Given the description of an element on the screen output the (x, y) to click on. 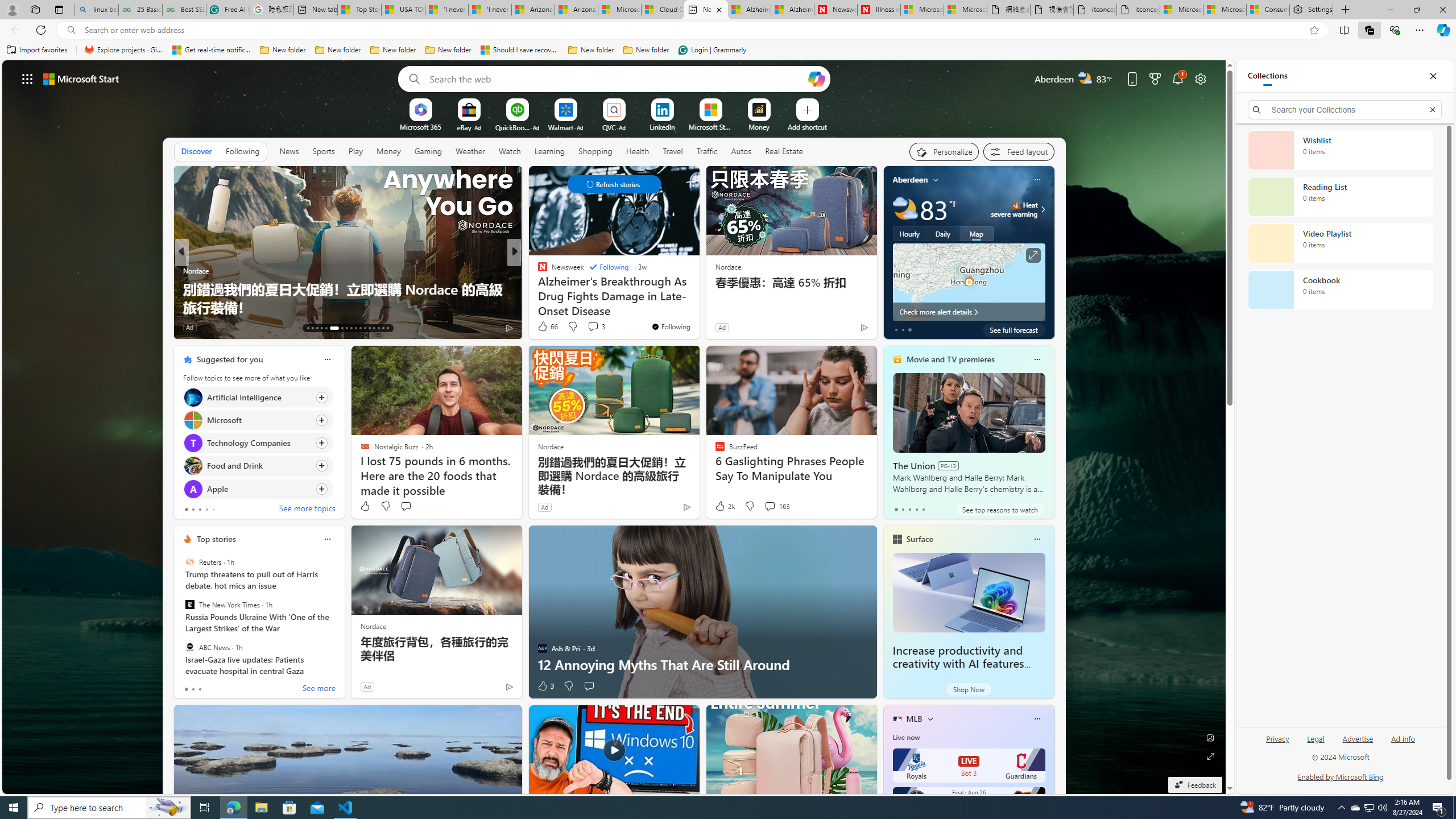
tab-3 (916, 509)
AutomationID: tab-29 (387, 328)
See top reasons to watch (999, 509)
Hourly (909, 233)
Click to follow topic Microsoft (257, 419)
AutomationID: tab-26 (374, 328)
Autos (740, 151)
USA TODAY - MSN (403, 9)
AutomationID: tab-14 (312, 328)
More interests (930, 718)
